Given the description of an element on the screen output the (x, y) to click on. 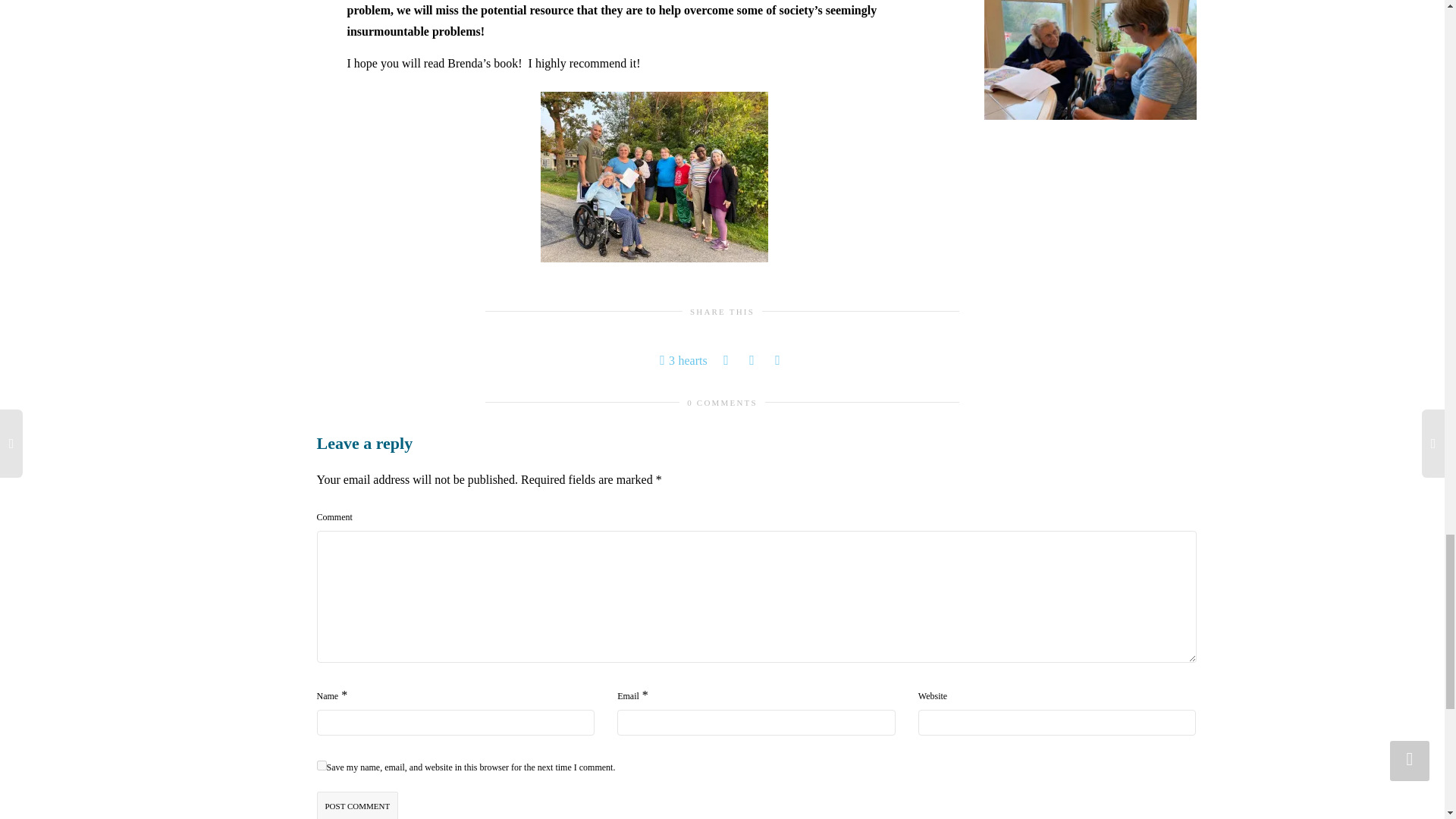
3 hearts (682, 360)
Post comment (357, 805)
yes (321, 765)
